Given the description of an element on the screen output the (x, y) to click on. 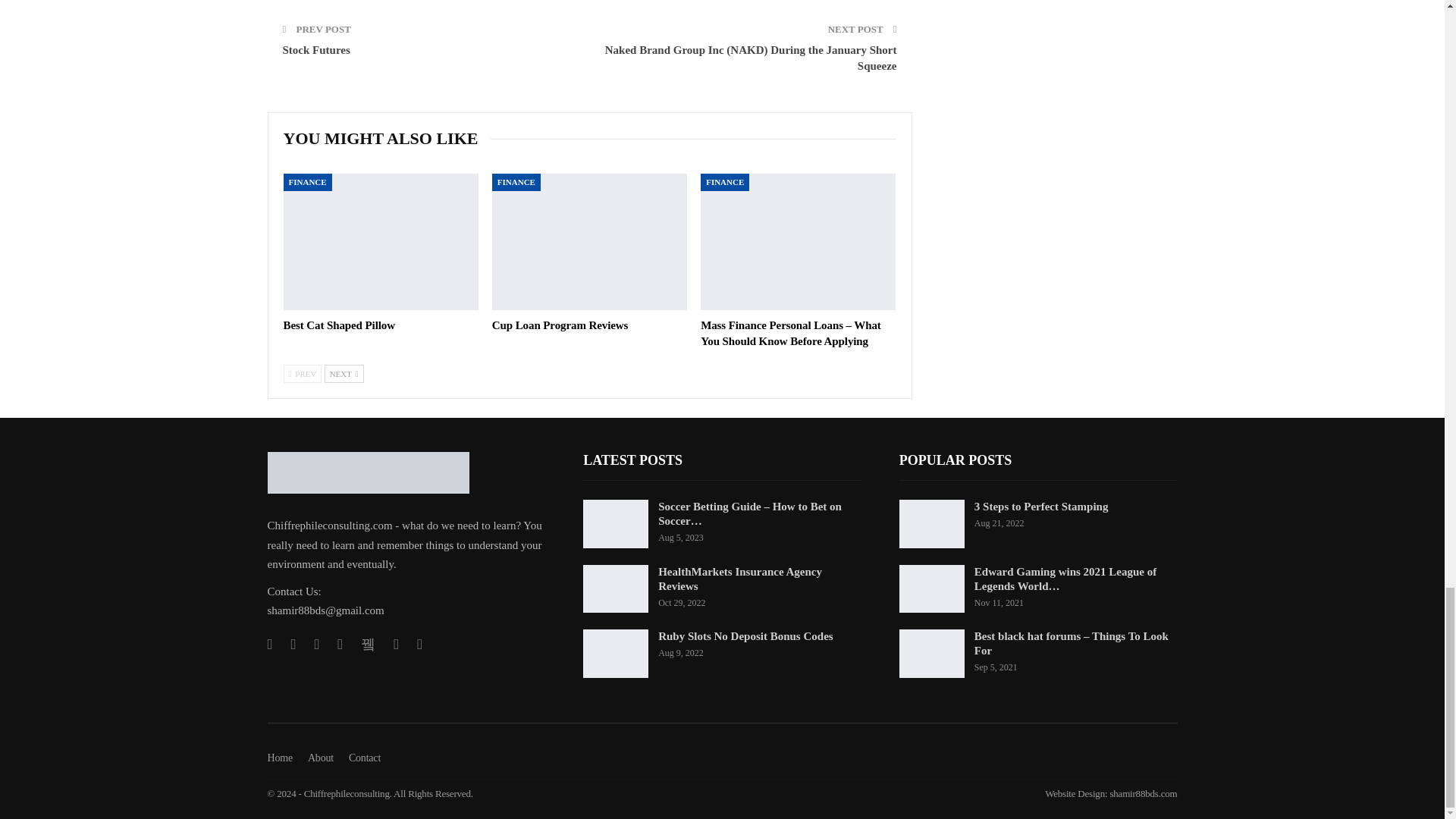
Best Cat Shaped Pillow (338, 325)
Best Cat Shaped Pillow (381, 241)
Cup Loan Program Reviews (589, 241)
Cup Loan Program Reviews (559, 325)
